Given the description of an element on the screen output the (x, y) to click on. 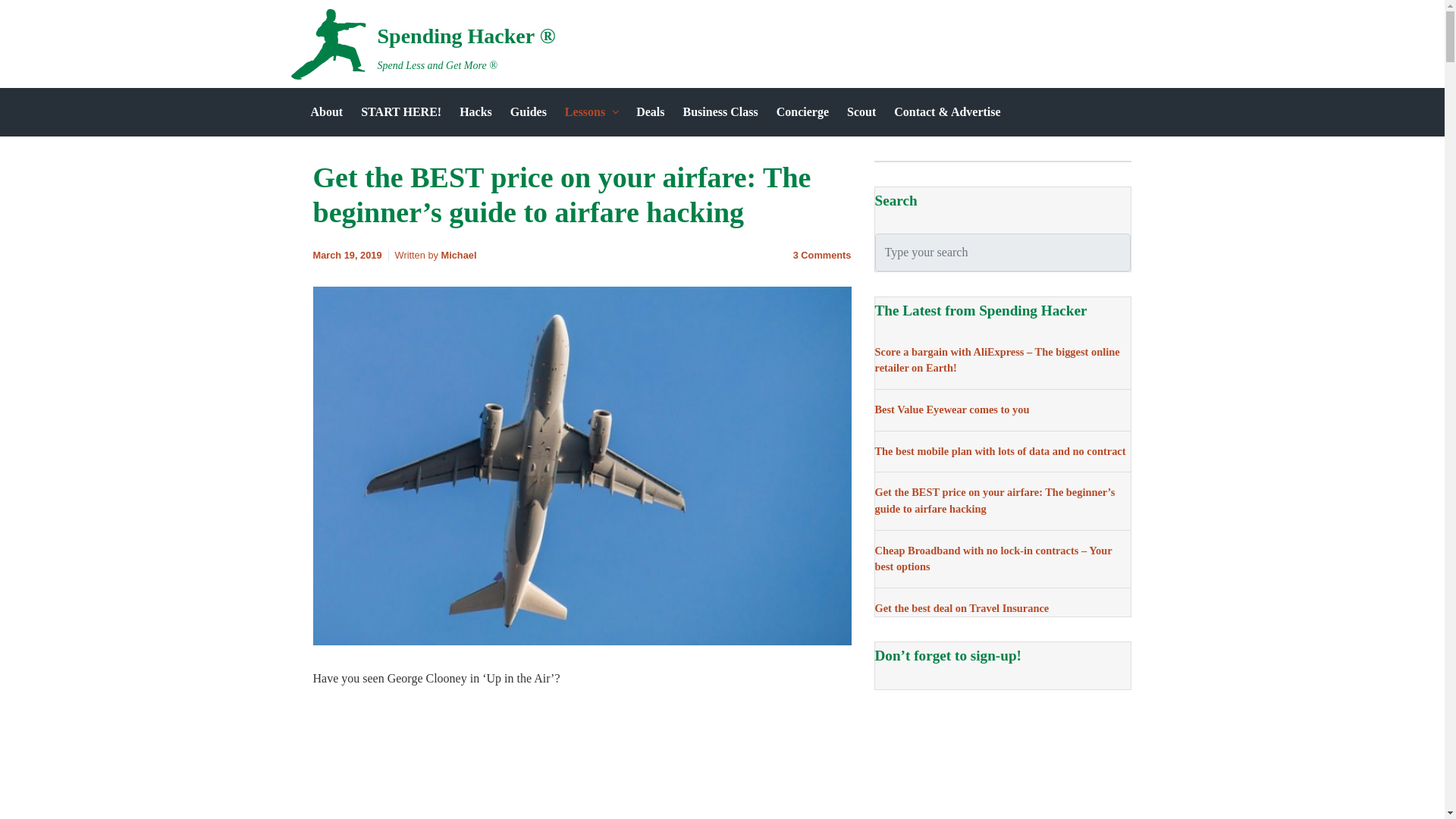
Michael (459, 255)
Hacks (474, 111)
Deals (649, 111)
Business Class (720, 111)
Concierge (802, 111)
START HERE! (400, 111)
About (326, 111)
3 Comments (822, 255)
Scout (861, 111)
Lessons (591, 111)
